Given the description of an element on the screen output the (x, y) to click on. 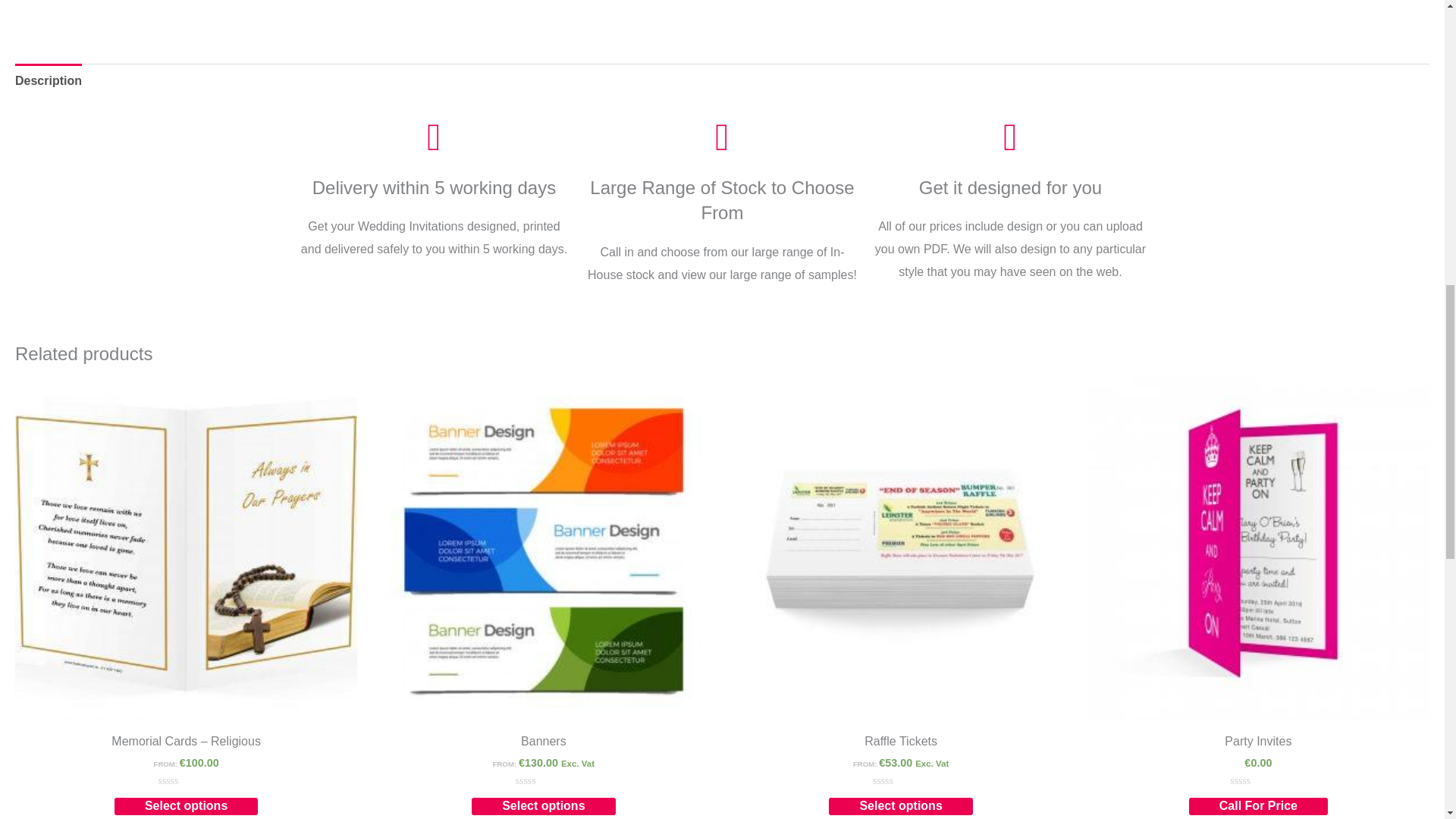
Description (47, 80)
Select options (542, 805)
Select options (900, 805)
Select options (186, 805)
Banners (543, 744)
Raffle Tickets (901, 744)
